Given the description of an element on the screen output the (x, y) to click on. 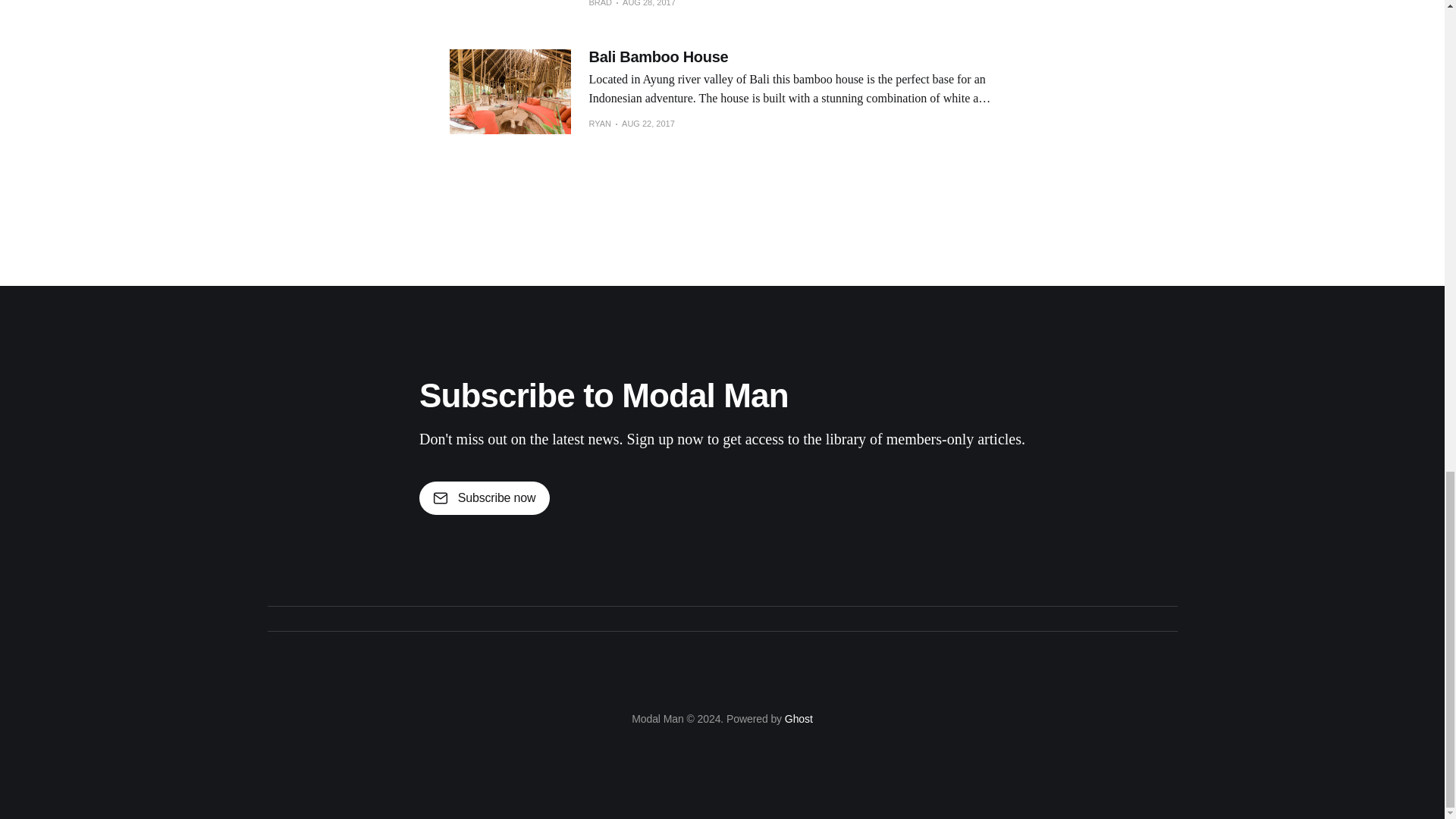
Subscribe now (484, 498)
Ghost (798, 718)
